Given the description of an element on the screen output the (x, y) to click on. 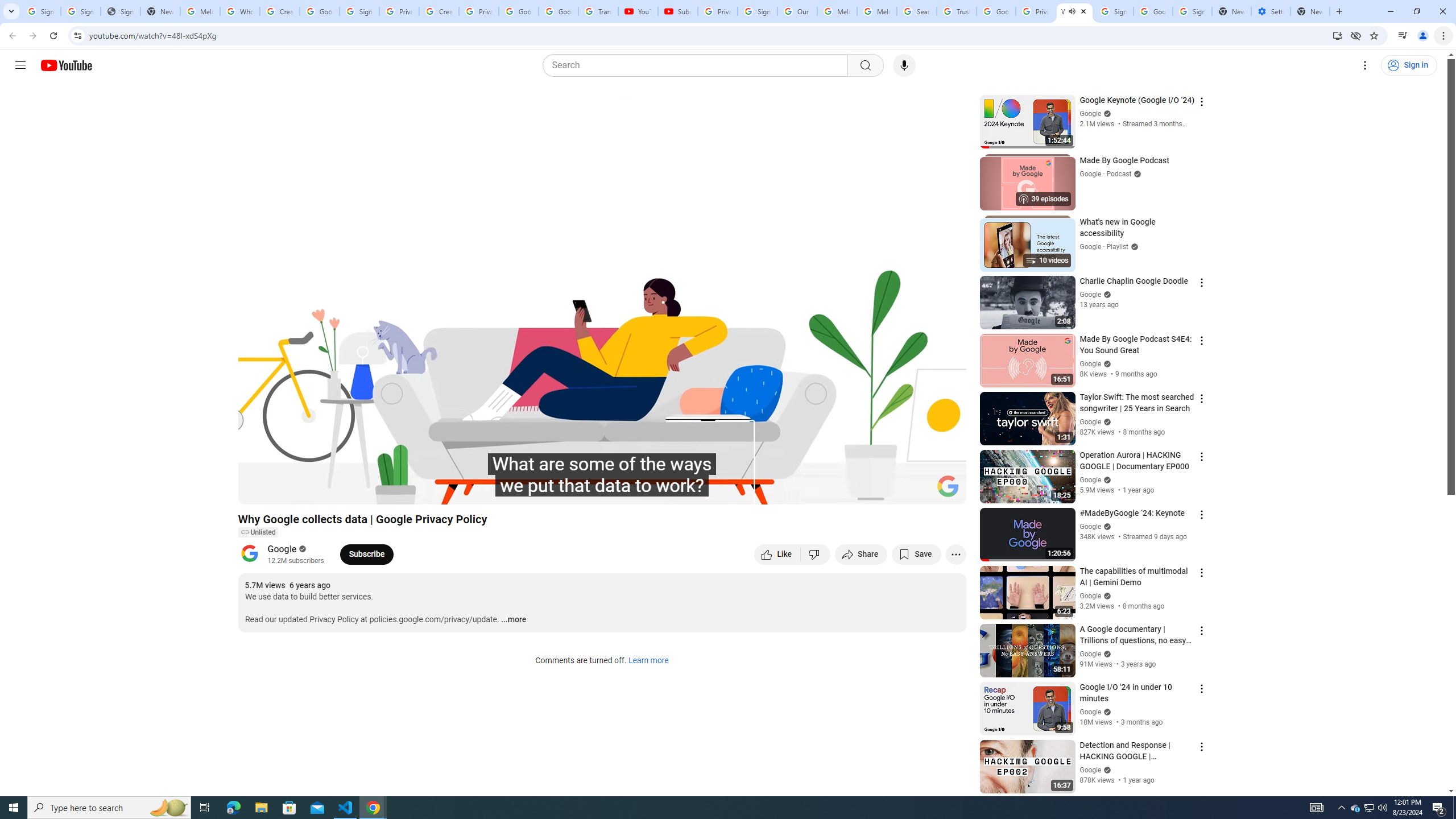
Sign in - Google Accounts (757, 11)
Save to playlist (915, 554)
Channel watermark (947, 486)
Miniplayer (i) (890, 490)
Trusted Information and Content - Google Safety Center (956, 11)
Settings - Addresses and more (1270, 11)
More actions (955, 554)
